Given the description of an element on the screen output the (x, y) to click on. 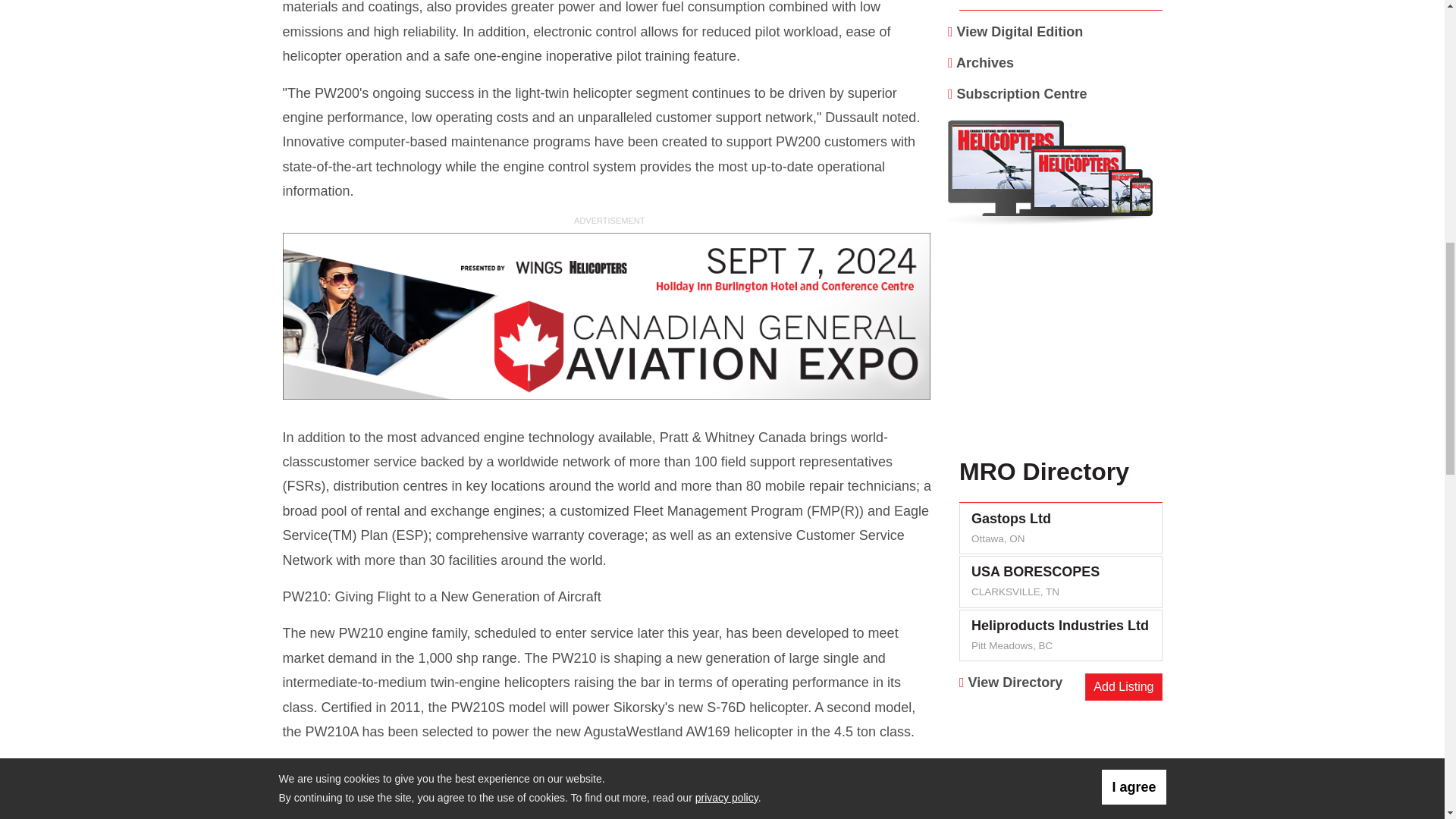
3rd party ad content (609, 317)
3rd party ad content (1060, 348)
3rd party ad content (1060, 761)
